Given the description of an element on the screen output the (x, y) to click on. 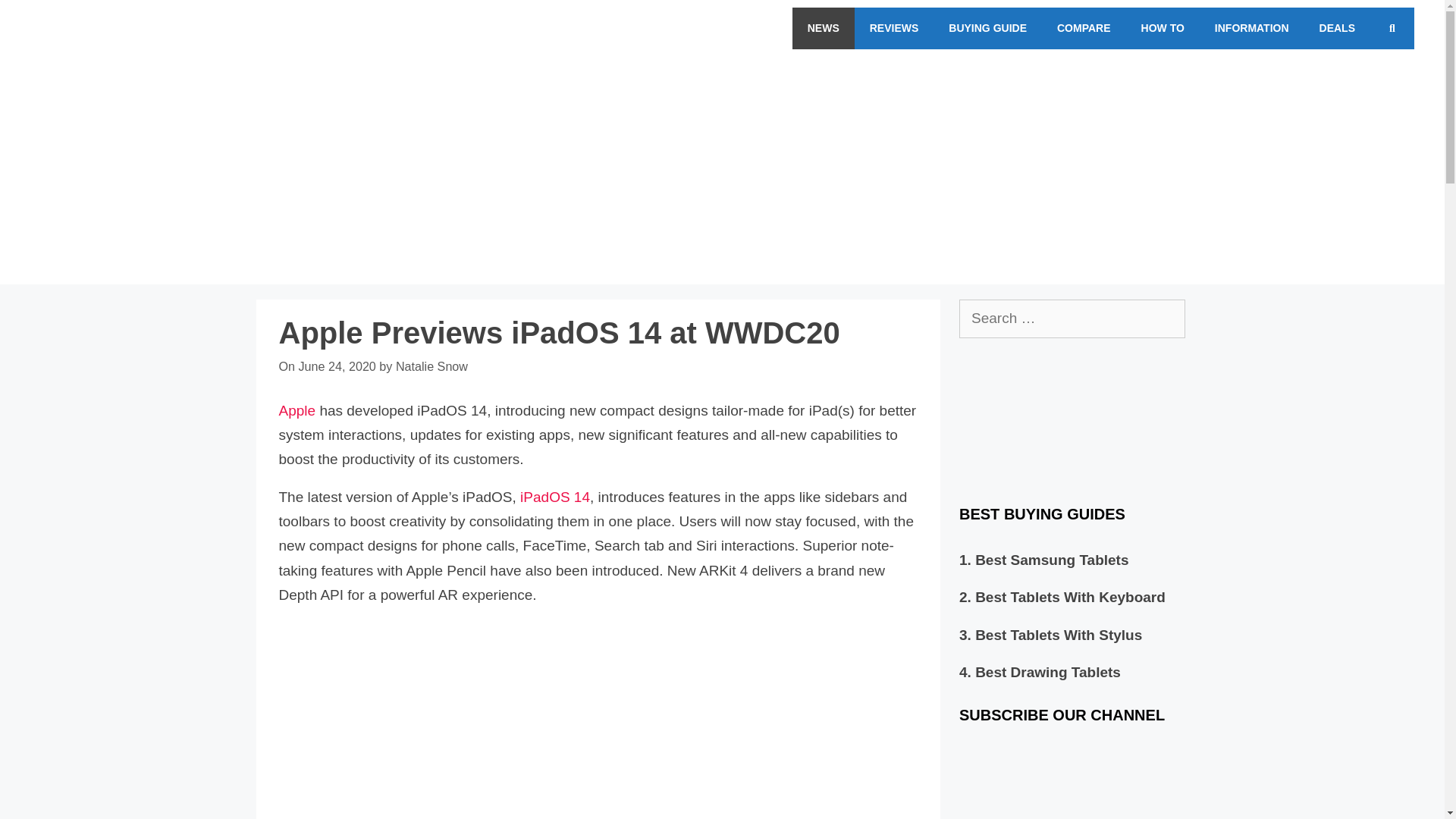
Search for: (1072, 318)
Apple (297, 410)
Best Tablets With Keyboard (1070, 596)
iPadOS 14 (554, 496)
Best Samsung Tablets (1051, 560)
Natalie Snow (431, 366)
Best Drawing Tablets (1048, 672)
REVIEWS (894, 28)
Search (44, 18)
DEALS (1337, 28)
